Given the description of an element on the screen output the (x, y) to click on. 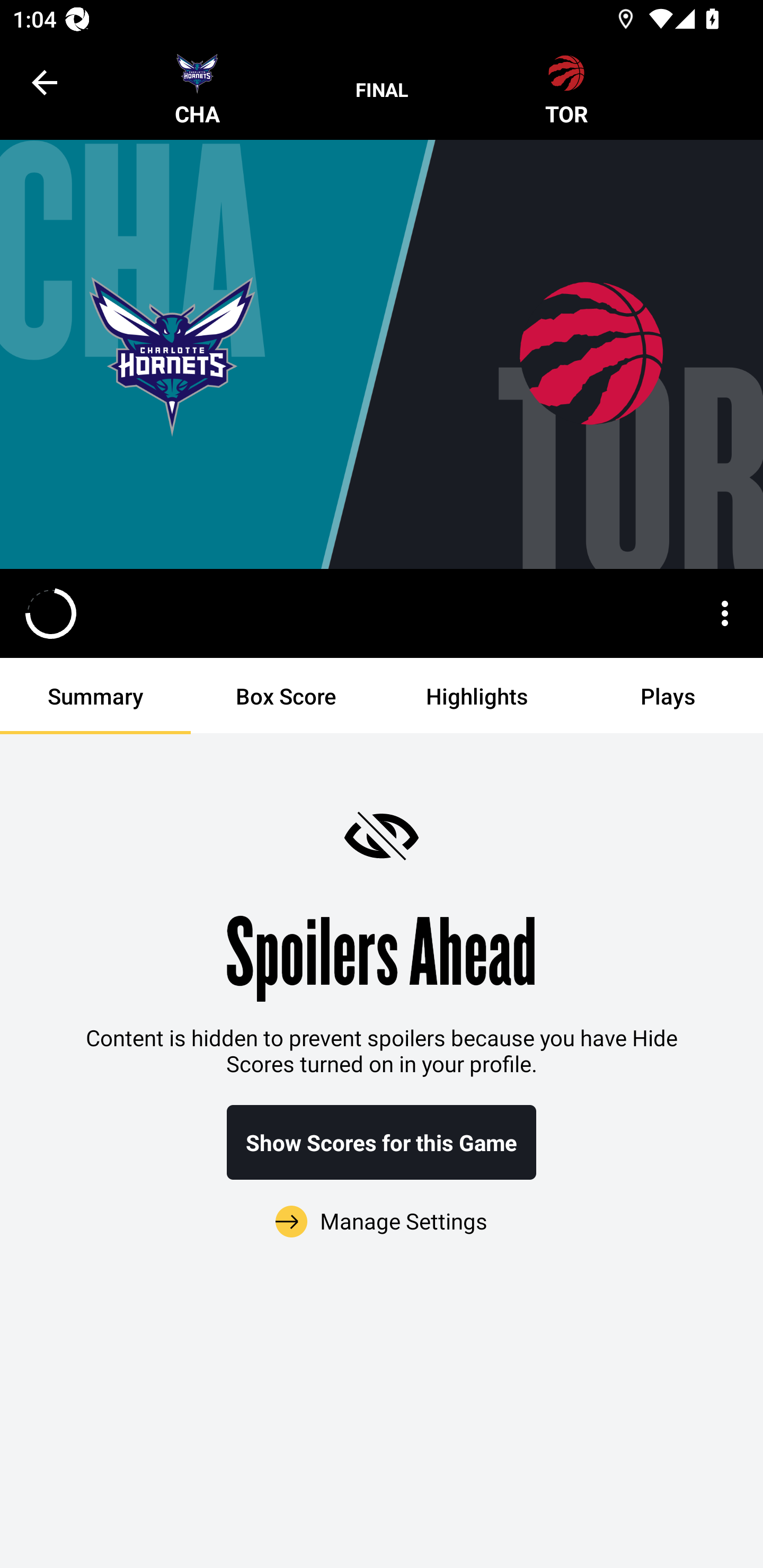
Navigate up (44, 82)
More options (724, 613)
Box Score (285, 695)
Highlights (476, 695)
Plays (667, 695)
Show Scores for this Game (381, 1141)
Manage Settings (381, 1210)
